Given the description of an element on the screen output the (x, y) to click on. 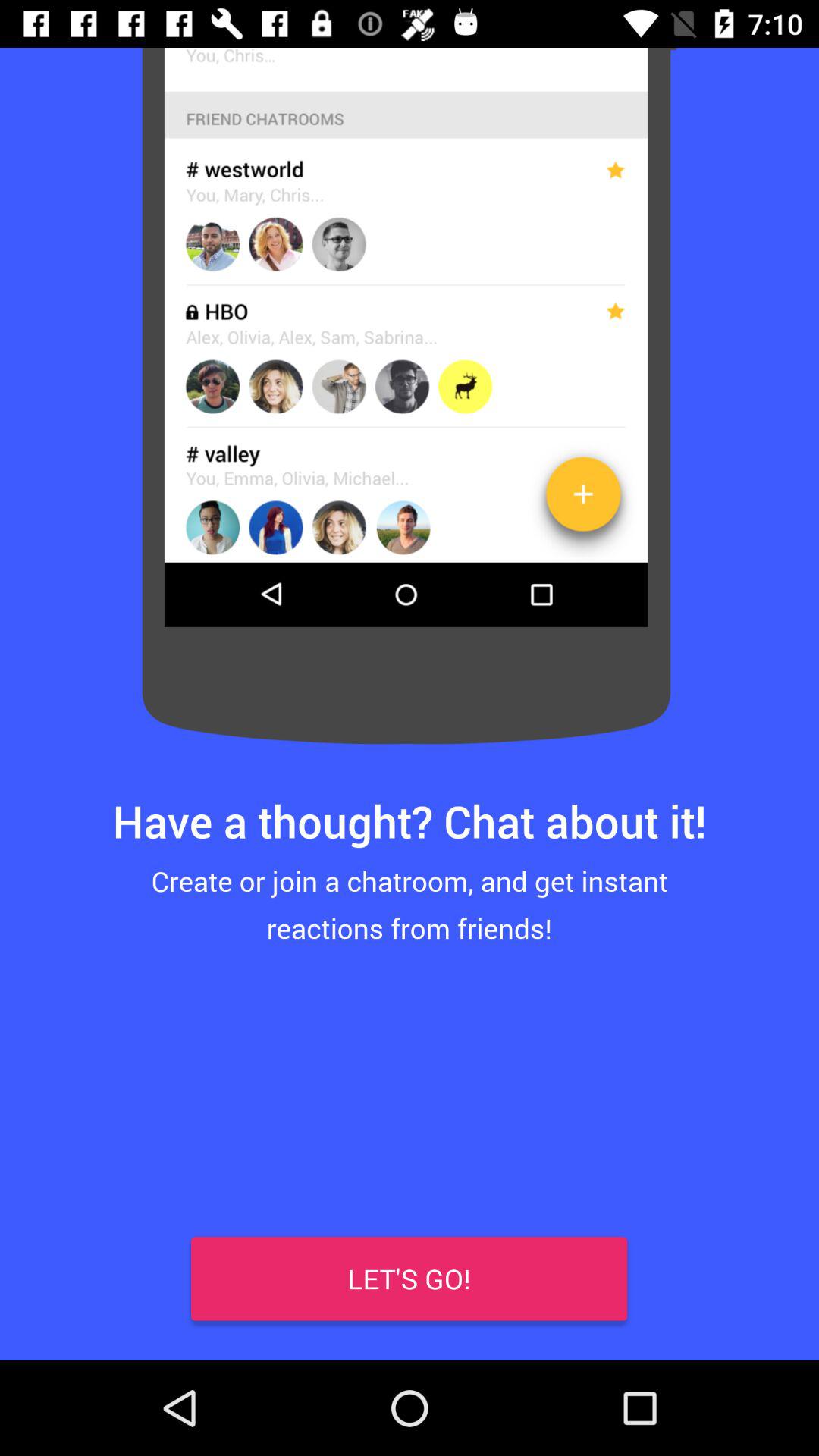
scroll to let's go! (409, 1278)
